Given the description of an element on the screen output the (x, y) to click on. 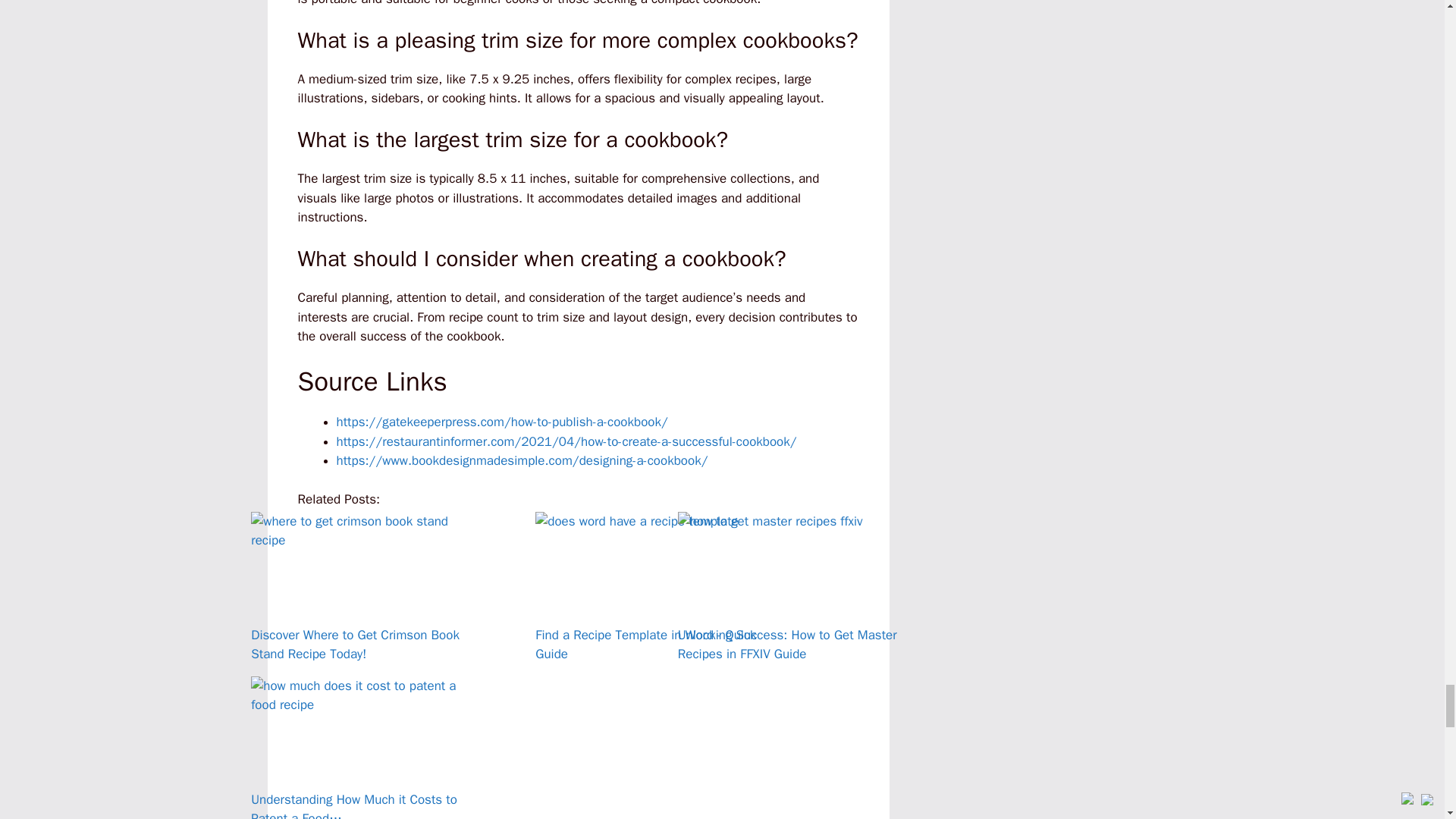
Find a Recipe Template in Word - Quick Guide (648, 576)
Discover Where to Get Crimson Book Stand Recipe Today! (364, 576)
Unlocking Success: How to Get Master Recipes in FFXIV Guide (791, 576)
